Given the description of an element on the screen output the (x, y) to click on. 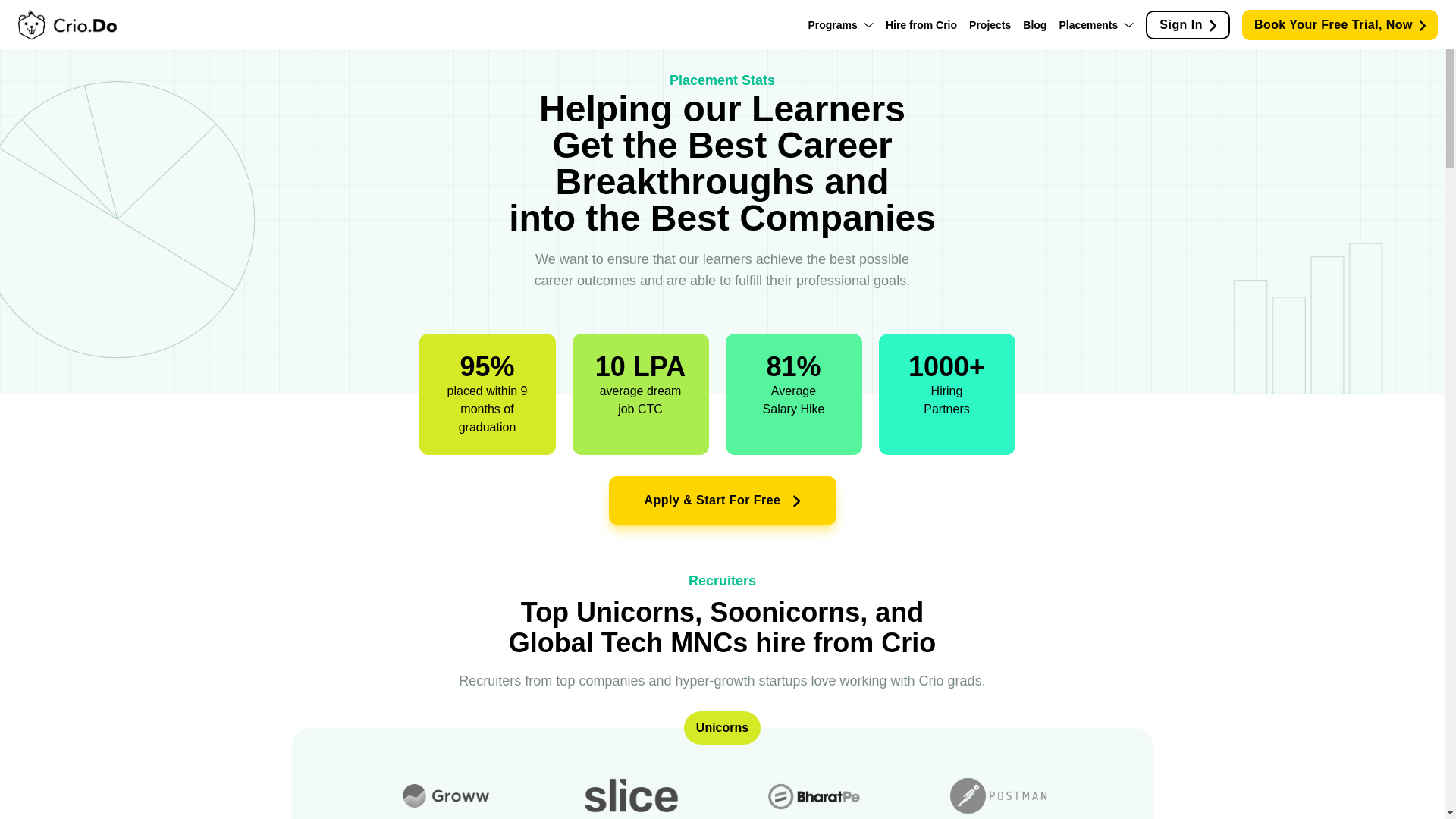
Projects (989, 23)
Hire from Crio (920, 23)
Sign In (1187, 24)
Blog (1034, 23)
Book Your Free Trial, Now (1339, 24)
